Given the description of an element on the screen output the (x, y) to click on. 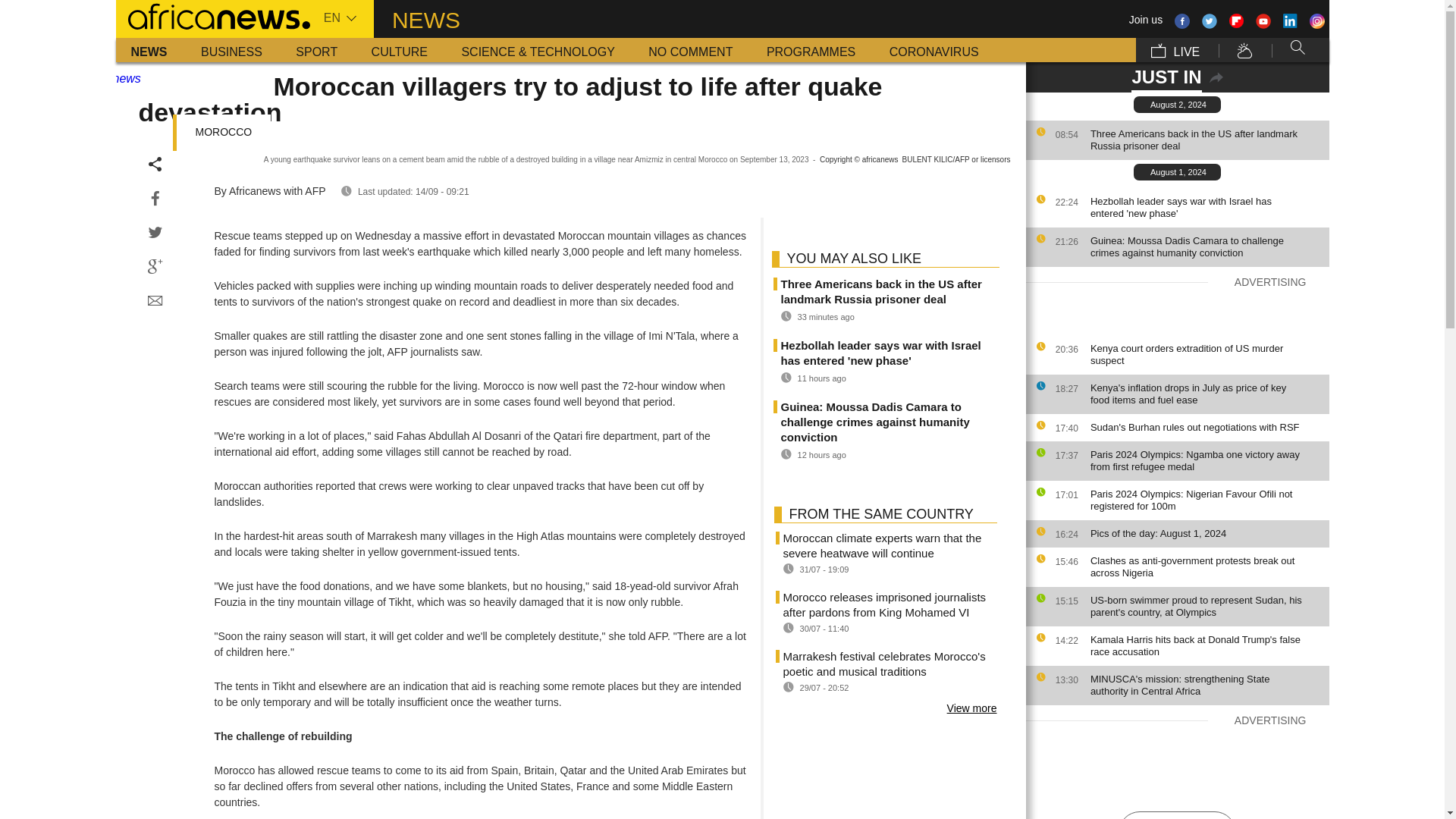
Kenya court orders extradition of US murder suspect (1206, 354)
Business (232, 49)
News (148, 49)
PROGRAMMES (810, 49)
Coronavirus (934, 49)
SPORT (316, 49)
LIVE (1174, 49)
CORONAVIRUS (934, 49)
NO COMMENT (690, 49)
CULTURE (399, 49)
BUSINESS (232, 49)
Sport (316, 49)
